Given the description of an element on the screen output the (x, y) to click on. 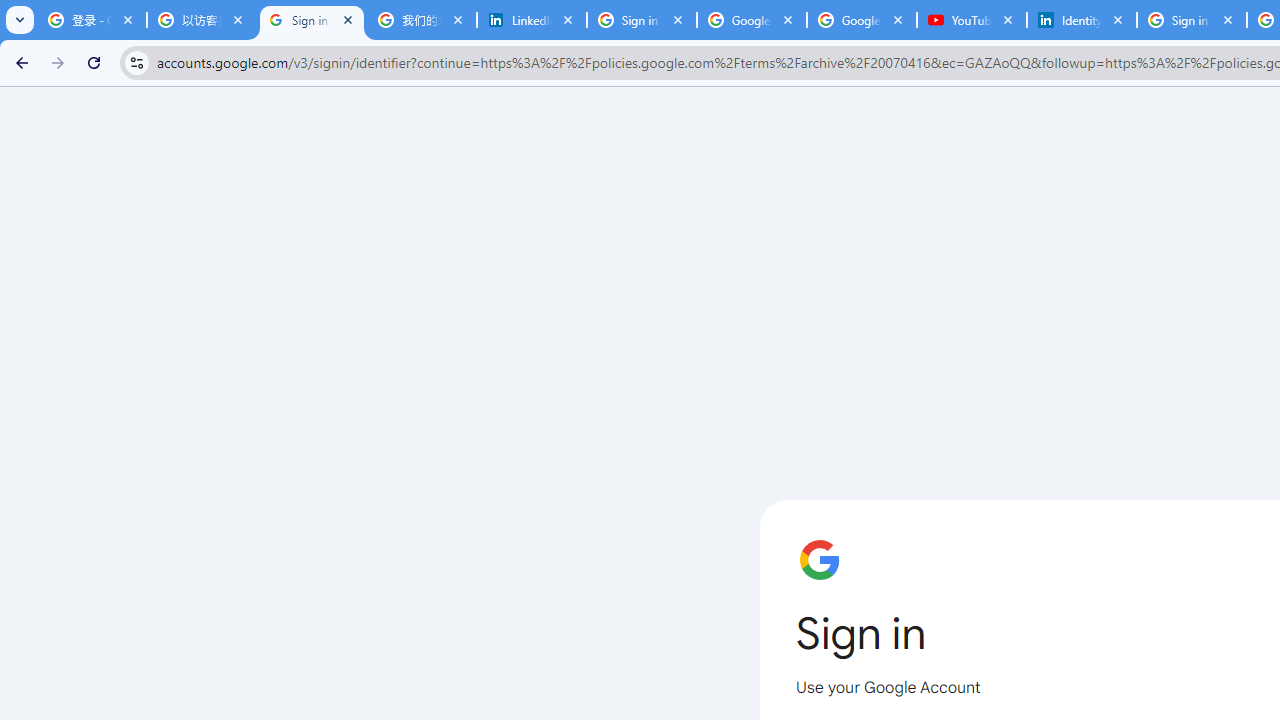
LinkedIn Privacy Policy (532, 20)
Sign in - Google Accounts (642, 20)
YouTube (971, 20)
